Given the description of an element on the screen output the (x, y) to click on. 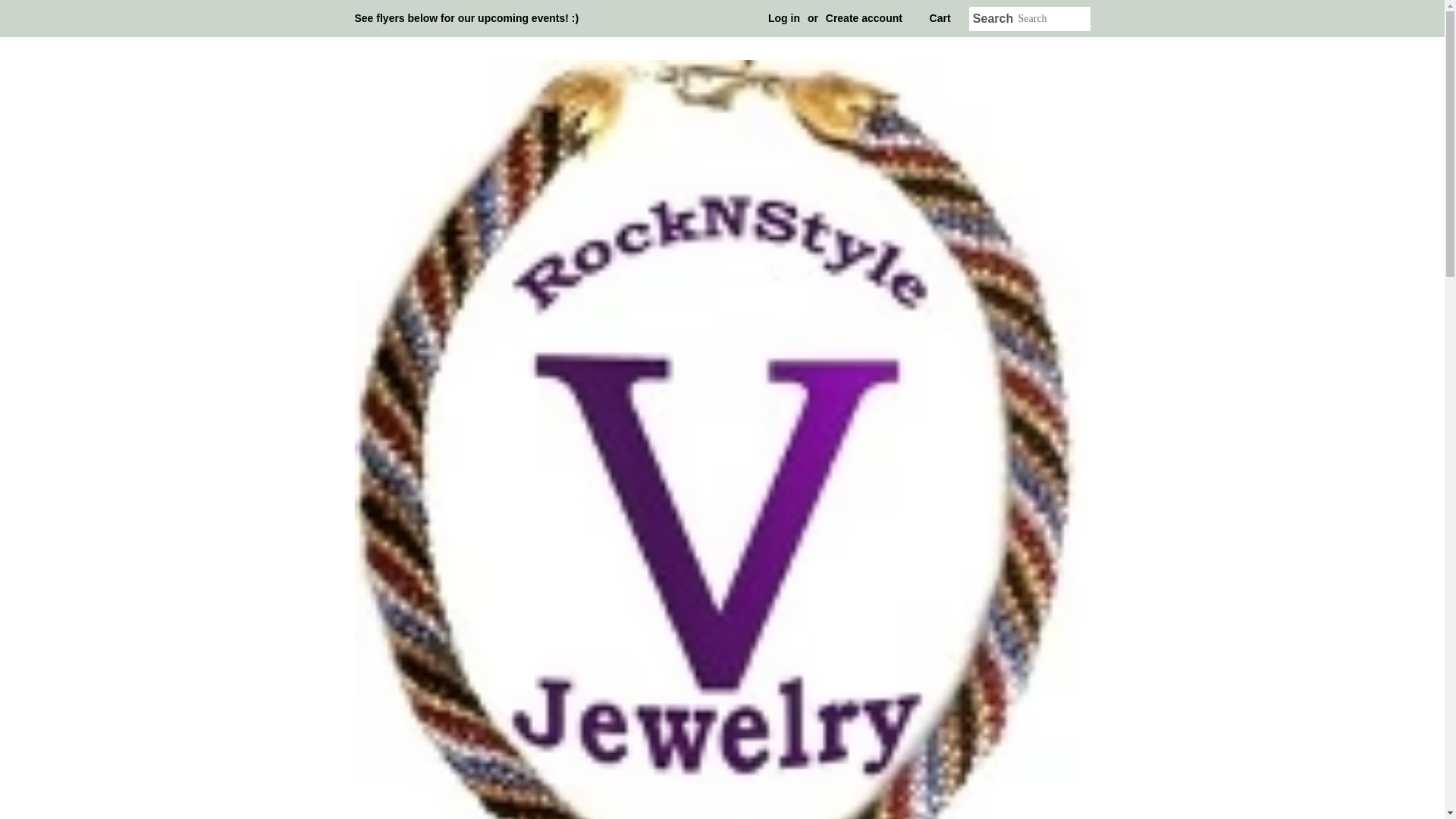
Cart (940, 18)
Create account (863, 18)
Log in (783, 18)
Search (993, 18)
